Given the description of an element on the screen output the (x, y) to click on. 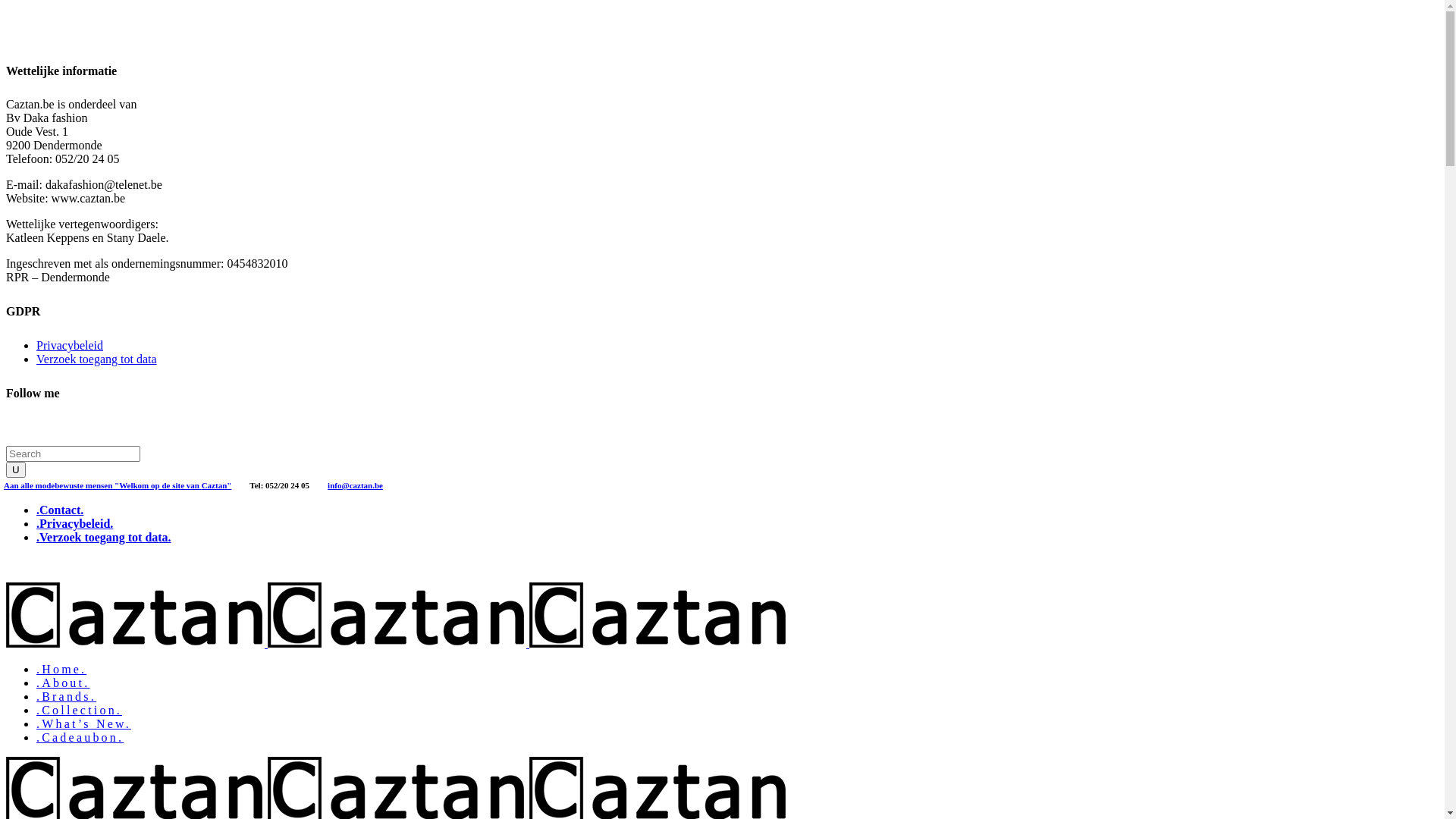
.Collection. Element type: text (79, 709)
info@caztan.be Element type: text (354, 483)
Verzoek toegang tot data Element type: text (96, 358)
Privacybeleid Element type: text (69, 344)
.Cadeaubon. Element type: text (79, 737)
.Verzoek toegang tot data. Element type: text (103, 536)
.Brands. Element type: text (66, 696)
.Privacybeleid. Element type: text (74, 523)
U Element type: text (15, 469)
Aan alle modebewuste mensen "Welkom op de site van Caztan" Element type: text (117, 483)
.Contact. Element type: text (59, 509)
.Home. Element type: text (61, 668)
.About. Element type: text (62, 682)
